Given the description of an element on the screen output the (x, y) to click on. 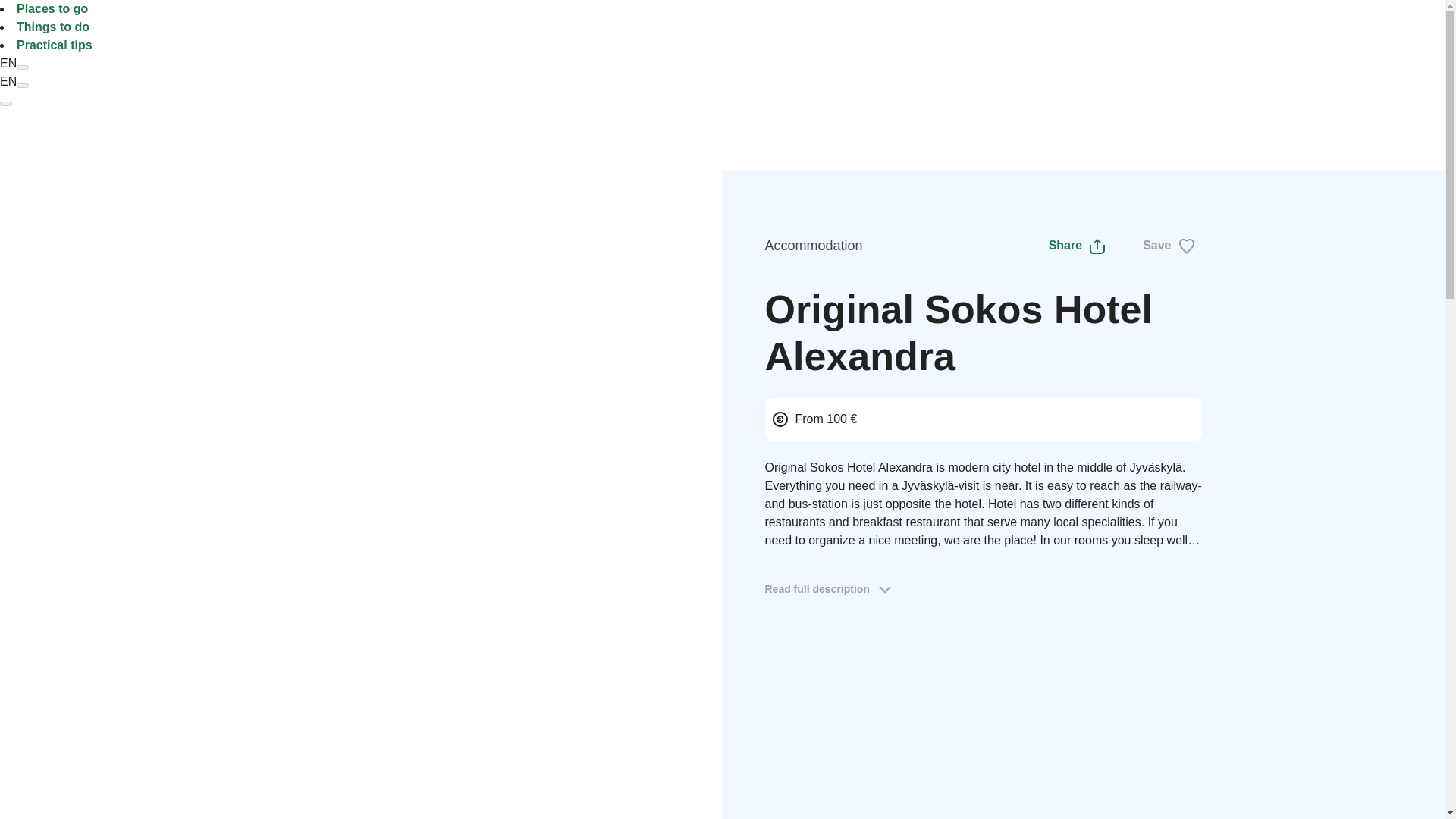
Practical tips (54, 44)
Things to do (52, 26)
Places to go (51, 8)
